Given the description of an element on the screen output the (x, y) to click on. 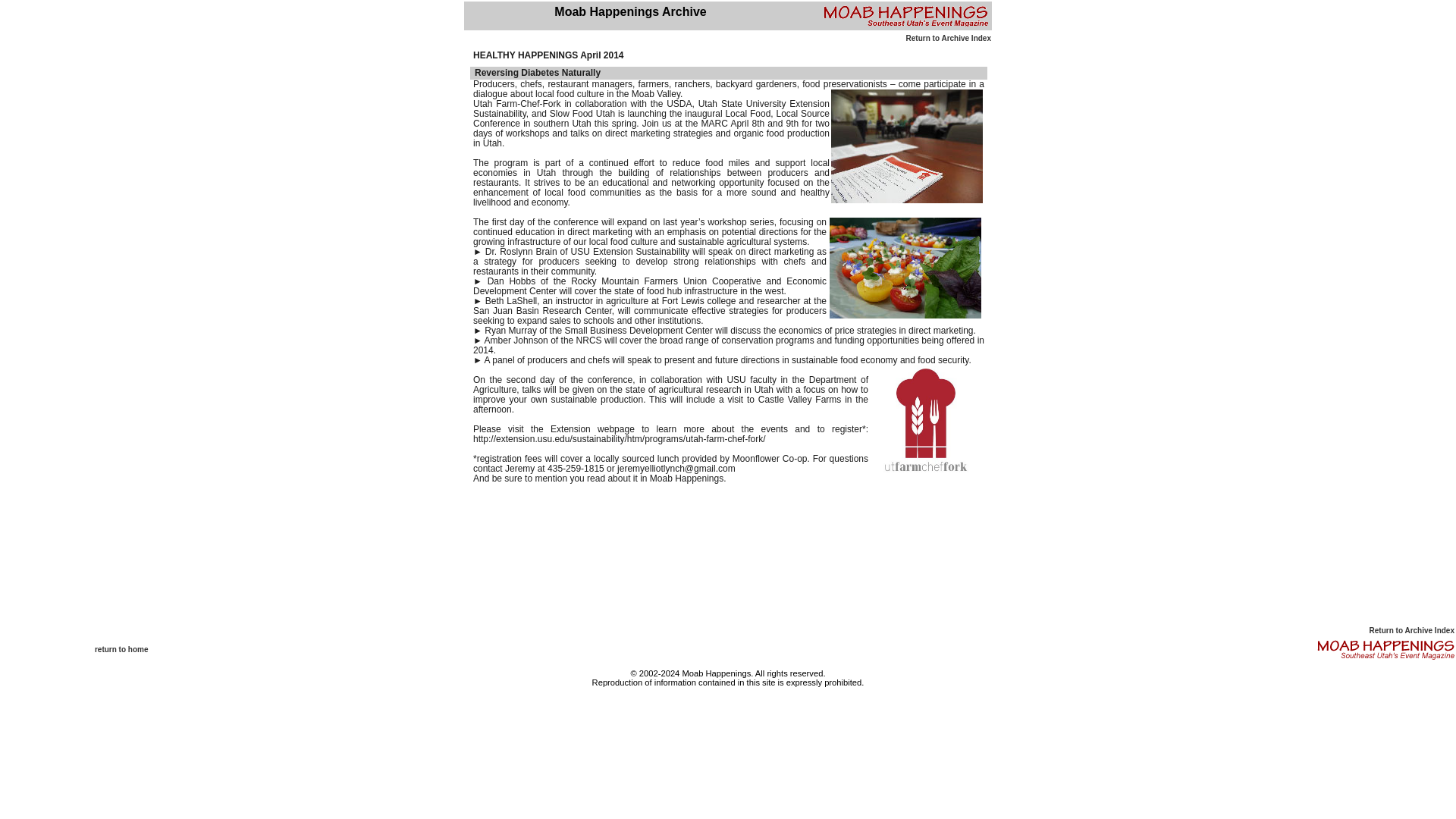
return to home (121, 649)
Return to Archive Index (1412, 630)
Return to Archive Index (948, 38)
